Given the description of an element on the screen output the (x, y) to click on. 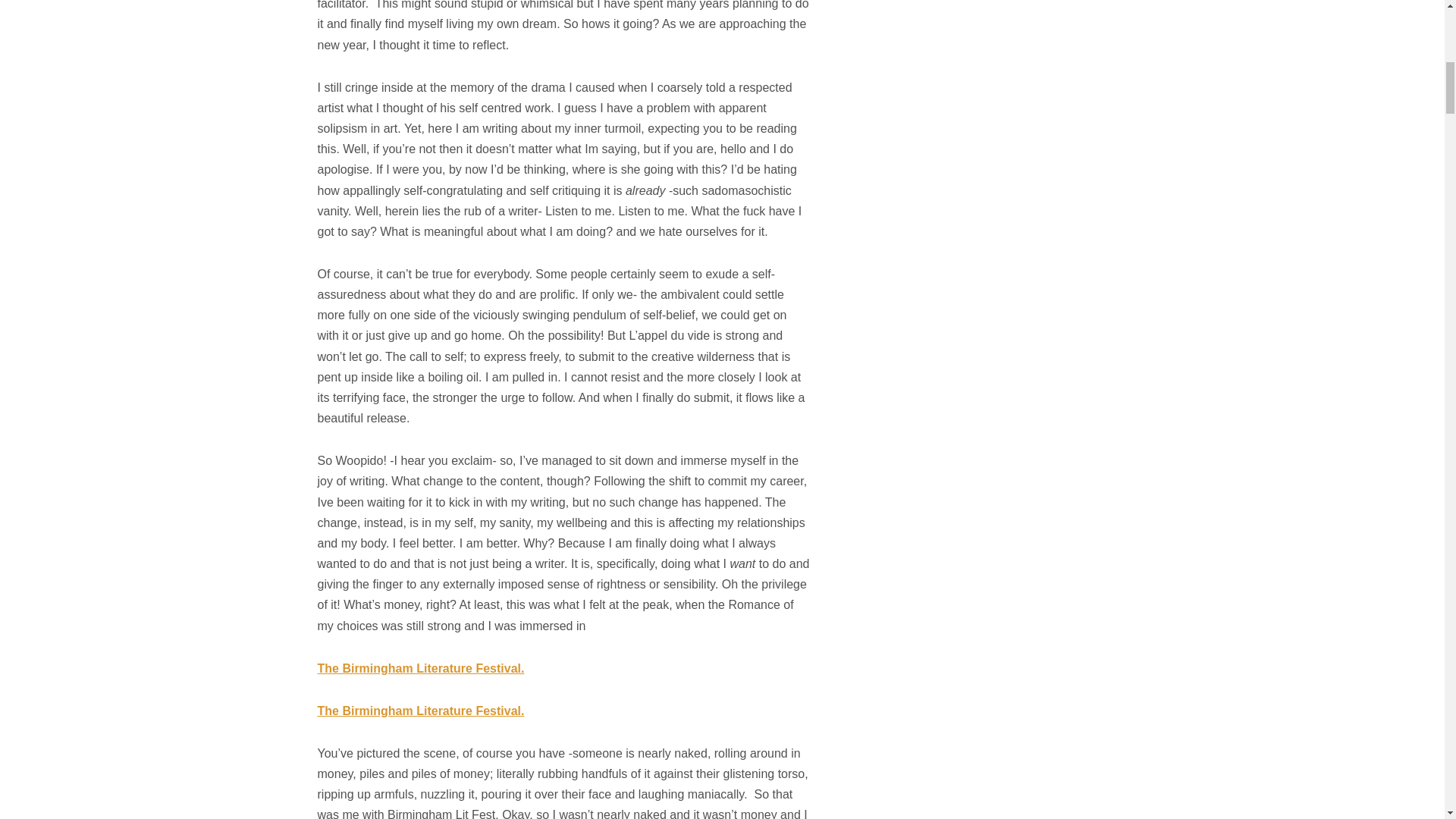
The Birmingham Literature Festival. (420, 667)
The Birmingham Literature Festival. (420, 710)
